Given the description of an element on the screen output the (x, y) to click on. 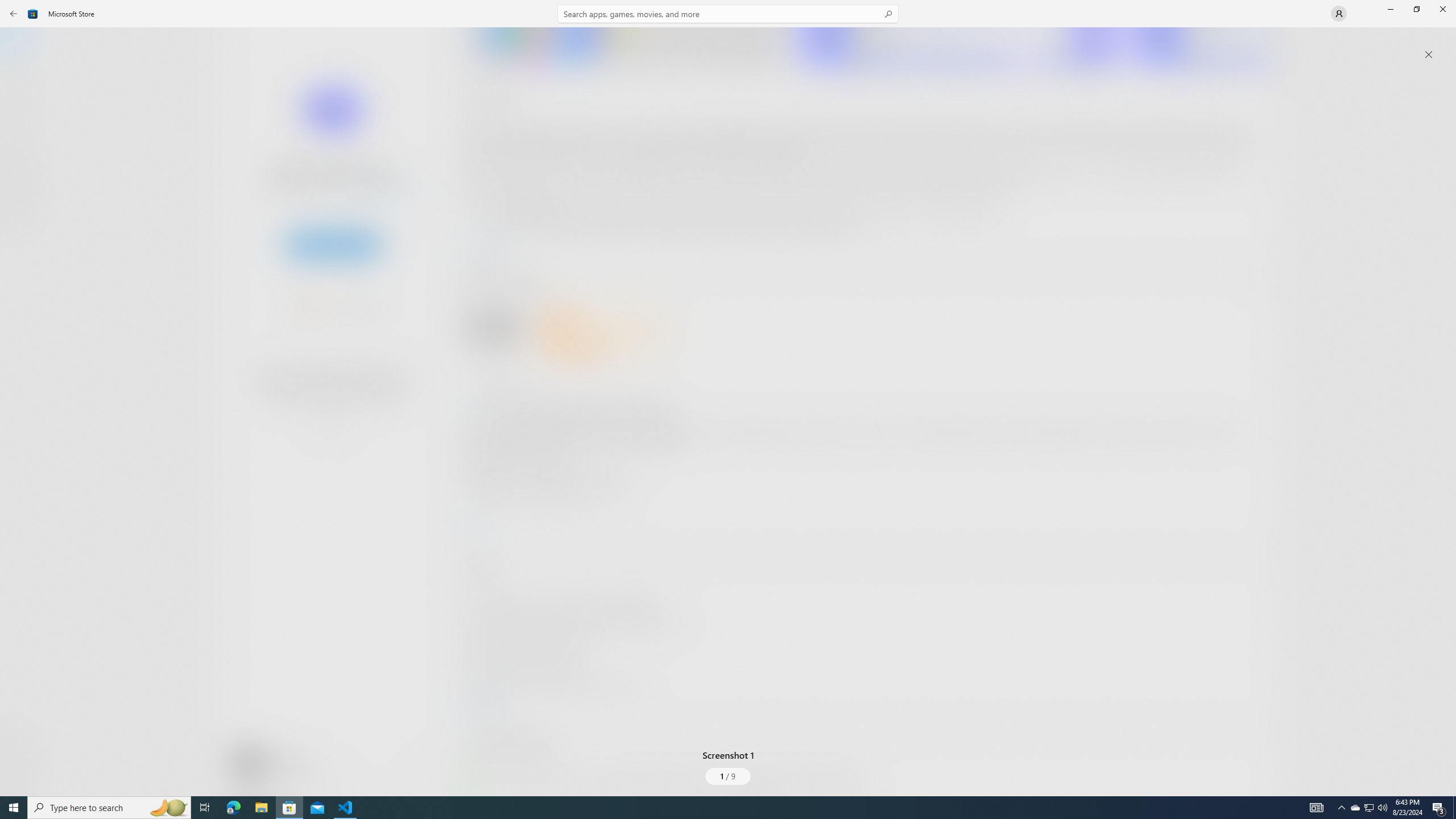
Library (20, 773)
